Given the description of an element on the screen output the (x, y) to click on. 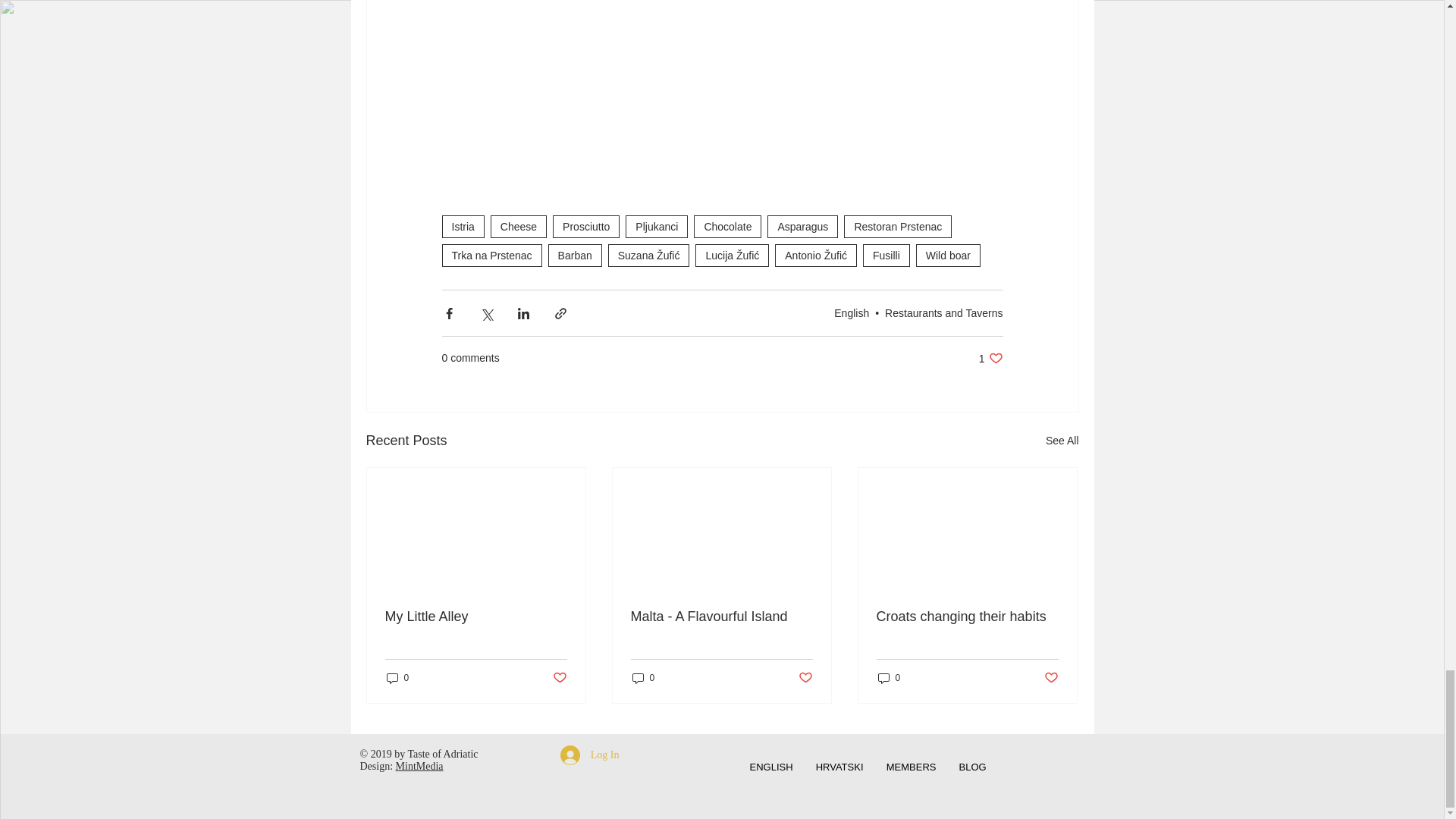
English (851, 312)
See All (1061, 440)
Trka na Prstenac (491, 255)
Prosciutto (586, 226)
Asparagus (802, 226)
Barban (575, 255)
Restaurants and Taverns (944, 312)
Post not marked as liked (804, 678)
Malta - A Flavourful Island (721, 616)
